Given the description of an element on the screen output the (x, y) to click on. 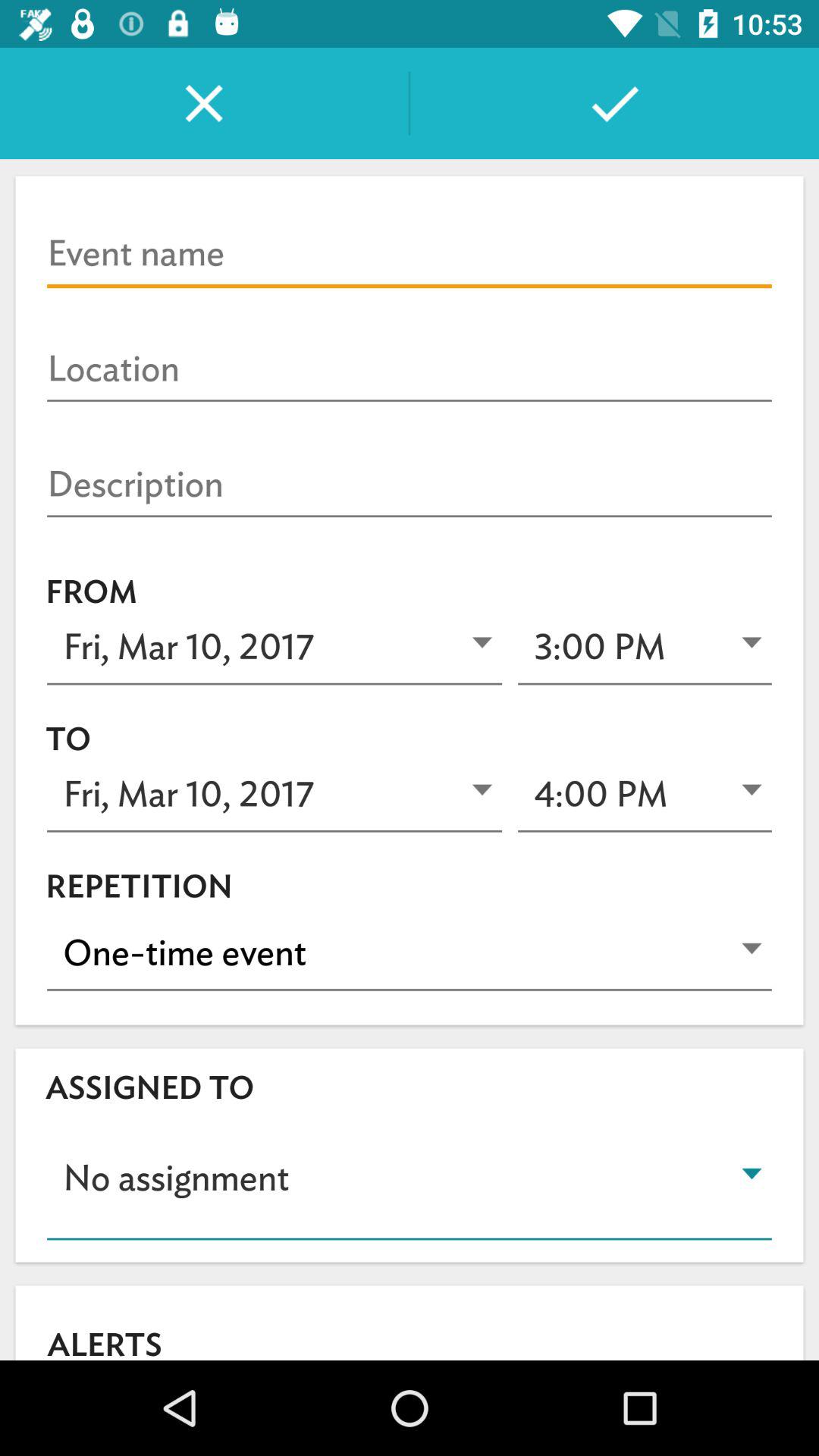
enter location of event (409, 369)
